Given the description of an element on the screen output the (x, y) to click on. 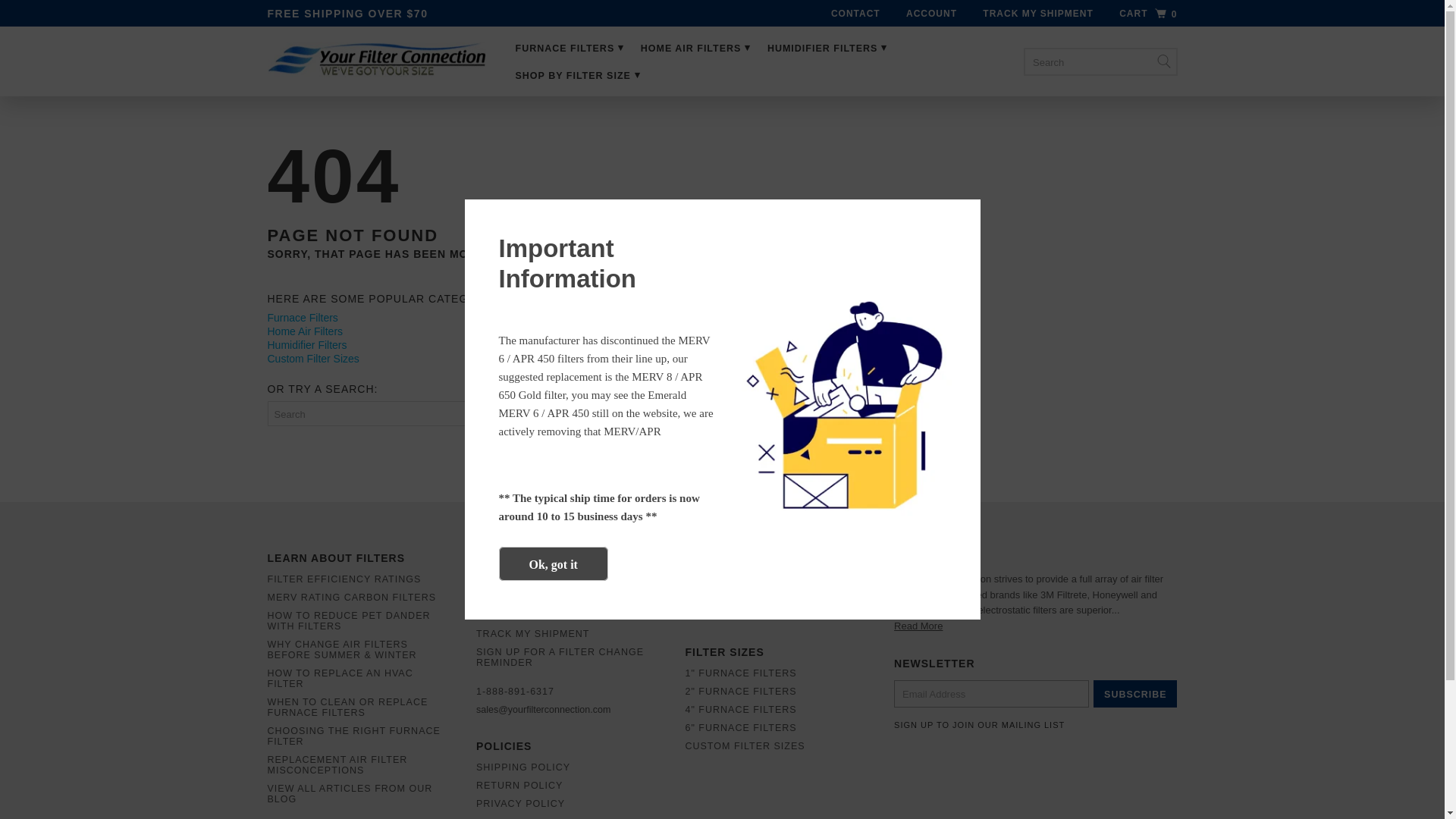
Search (526, 413)
Search (1163, 60)
Subscribe (1134, 693)
